Given the description of an element on the screen output the (x, y) to click on. 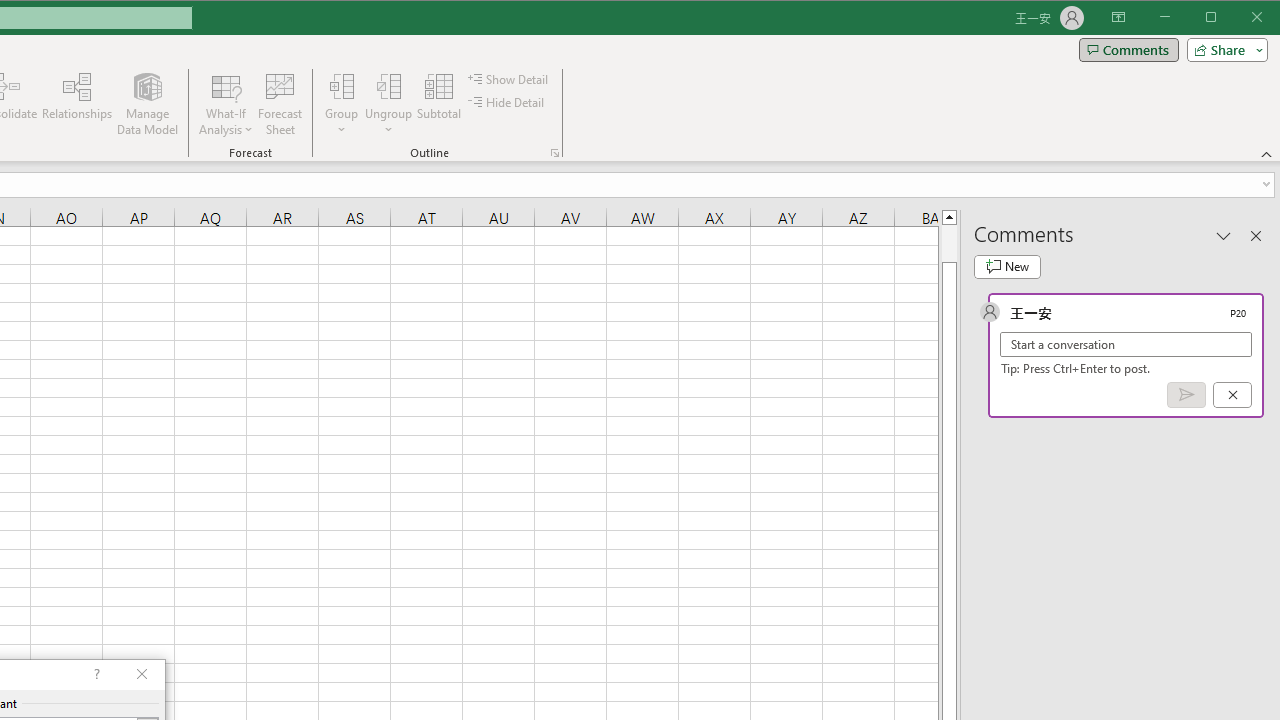
Ungroup... (388, 86)
What-If Analysis (226, 104)
Hide Detail (506, 101)
Cancel (1232, 395)
Maximize (1239, 18)
Group... (342, 86)
Forecast Sheet (280, 104)
Relationships (77, 104)
New comment (1007, 266)
